Given the description of an element on the screen output the (x, y) to click on. 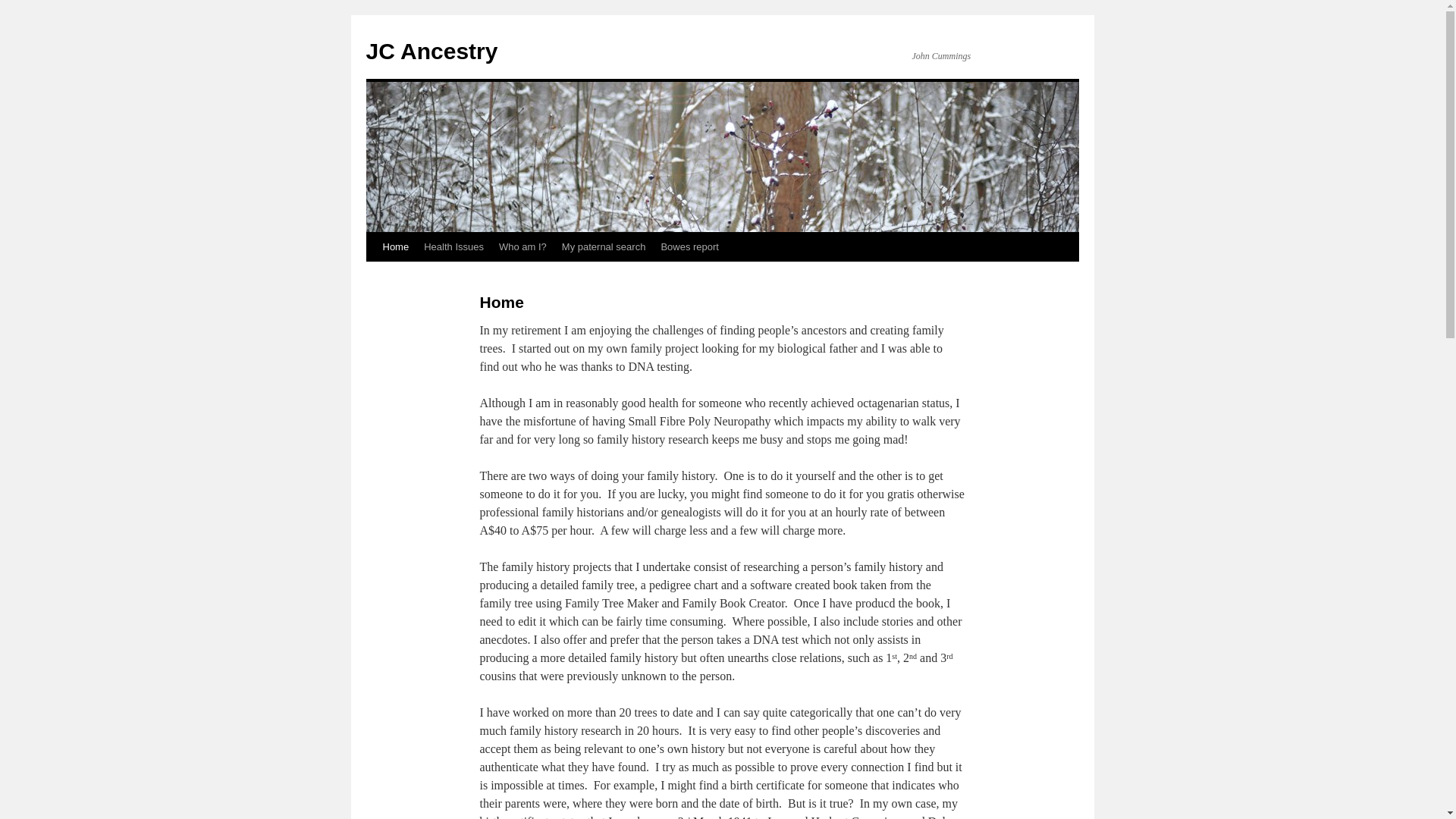
Health Issues Element type: text (453, 246)
Who am I? Element type: text (522, 246)
My paternal search Element type: text (603, 246)
Bowes report Element type: text (689, 246)
Home Element type: text (395, 246)
Skip to content Element type: text (372, 275)
JC Ancestry Element type: text (431, 50)
